Given the description of an element on the screen output the (x, y) to click on. 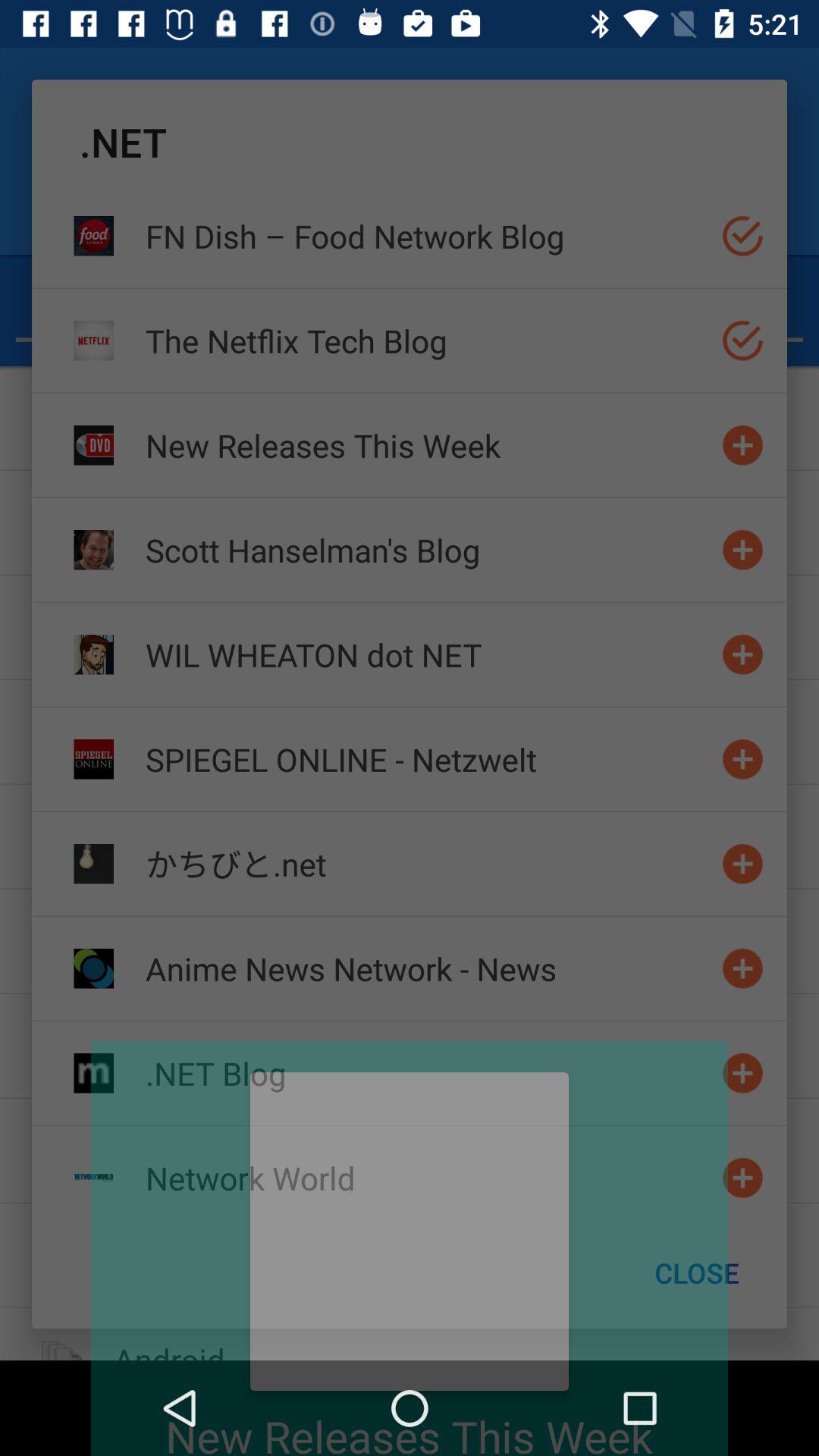
scroll to wil wheaton dot item (426, 654)
